Given the description of an element on the screen output the (x, y) to click on. 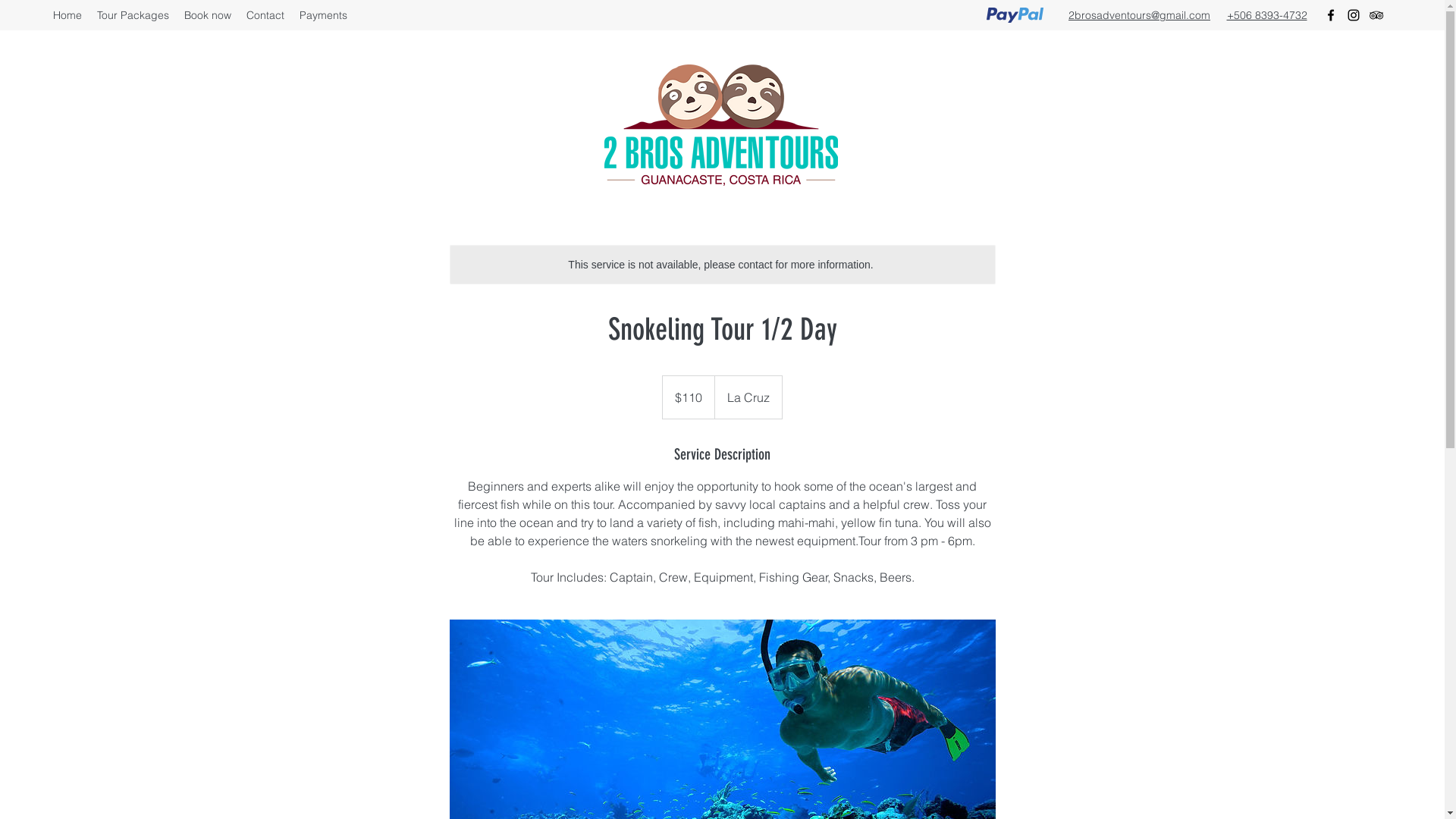
Contact Element type: text (264, 14)
Home Element type: text (67, 14)
2brosadventours@gmail.com Element type: text (1139, 14)
+506 8393-4732 Element type: text (1266, 14)
Tour Packages Element type: text (132, 14)
Payments Element type: text (322, 14)
